Given the description of an element on the screen output the (x, y) to click on. 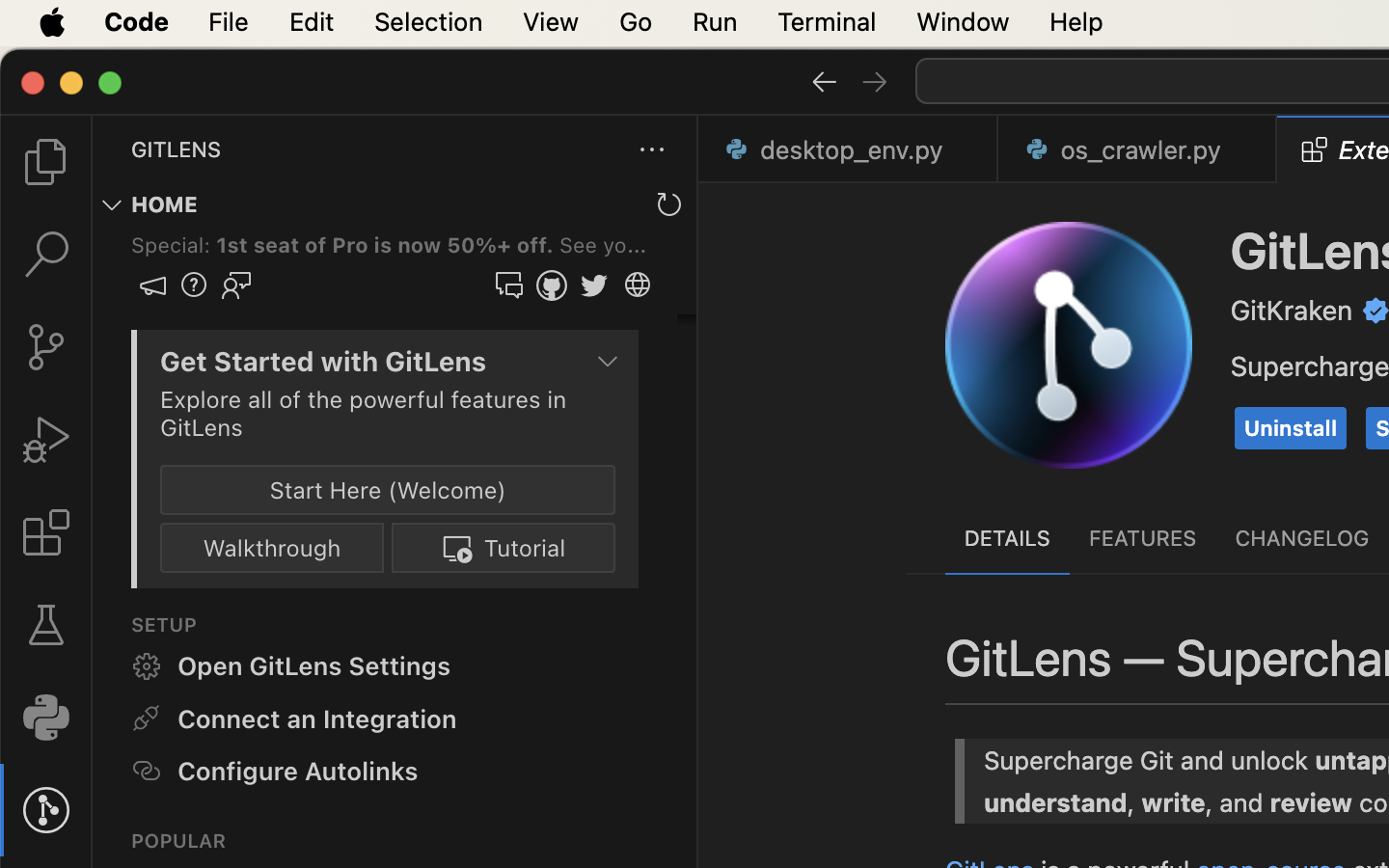
0  Element type: AXRadioButton (46, 624)
0 os_crawler.py   Element type: AXRadioButton (1138, 149)
0  Element type: AXRadioButton (46, 254)
 Element type: AXStaticText (1314, 149)
Powerful Features Element type: AXStaticText (887, 509)
